Given the description of an element on the screen output the (x, y) to click on. 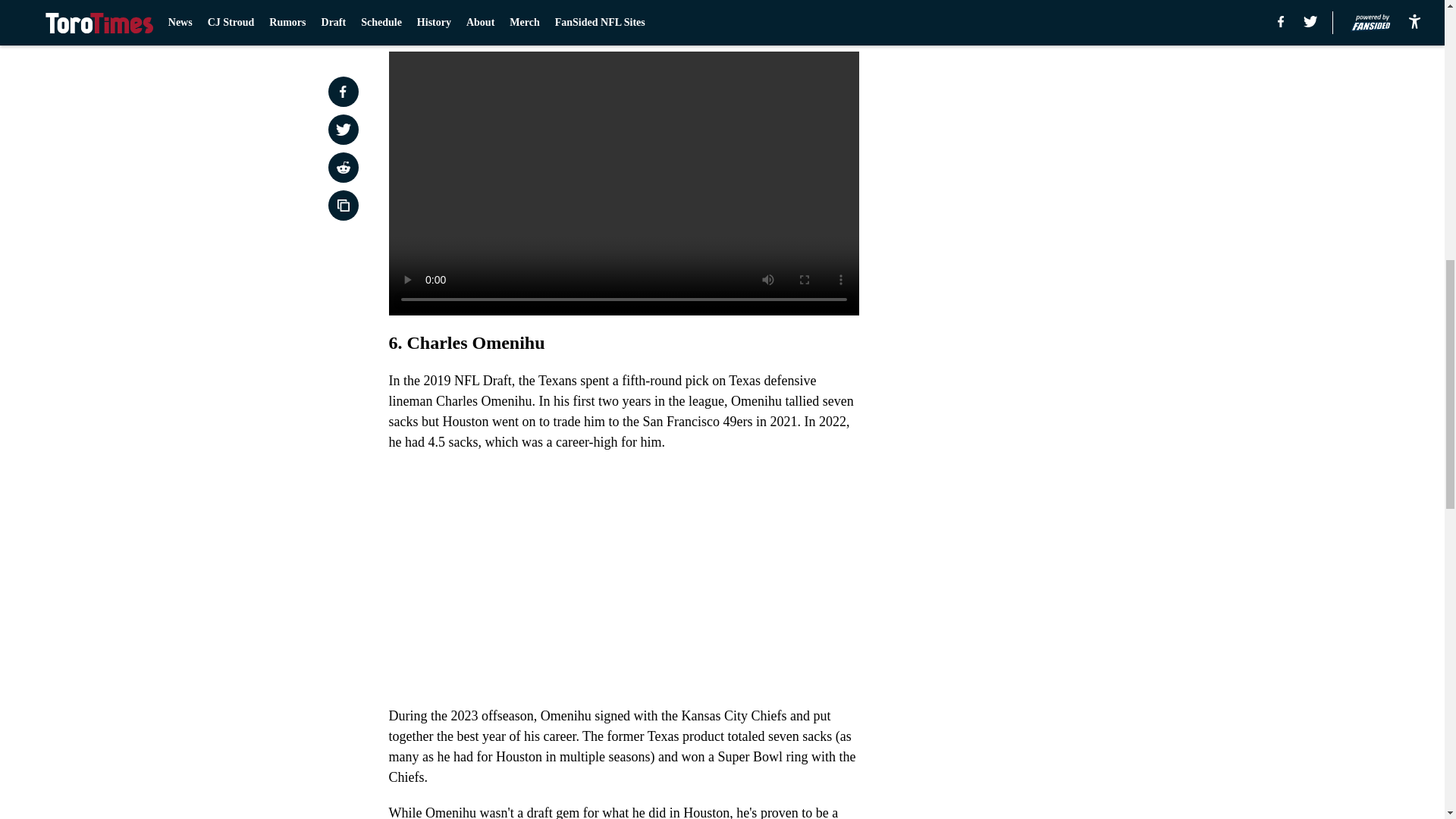
Prev (433, 20)
Next (813, 20)
3rd party ad content (1047, 320)
3rd party ad content (1047, 100)
